Given the description of an element on the screen output the (x, y) to click on. 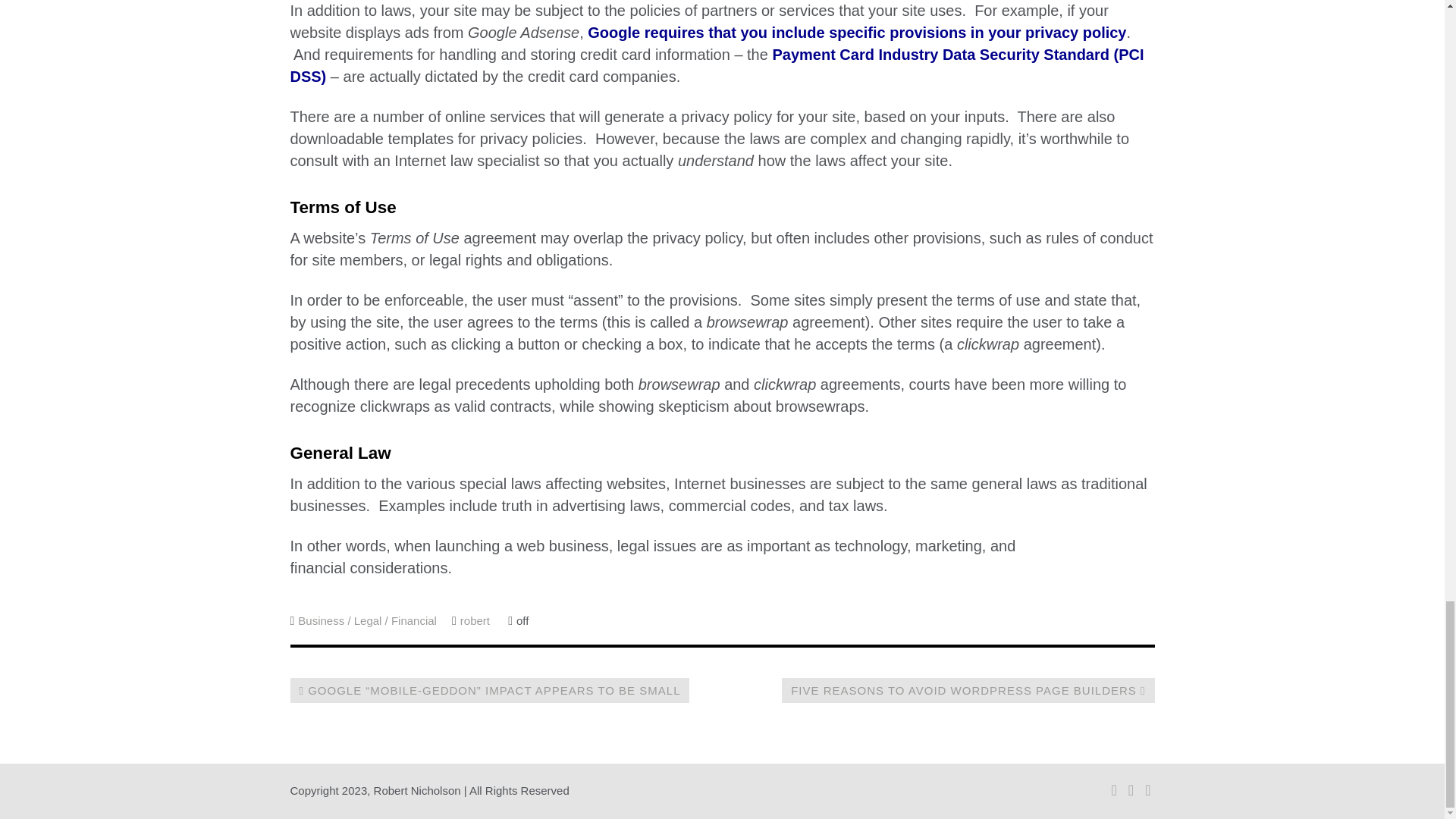
robert (474, 620)
View all posts by robert (474, 620)
